Given the description of an element on the screen output the (x, y) to click on. 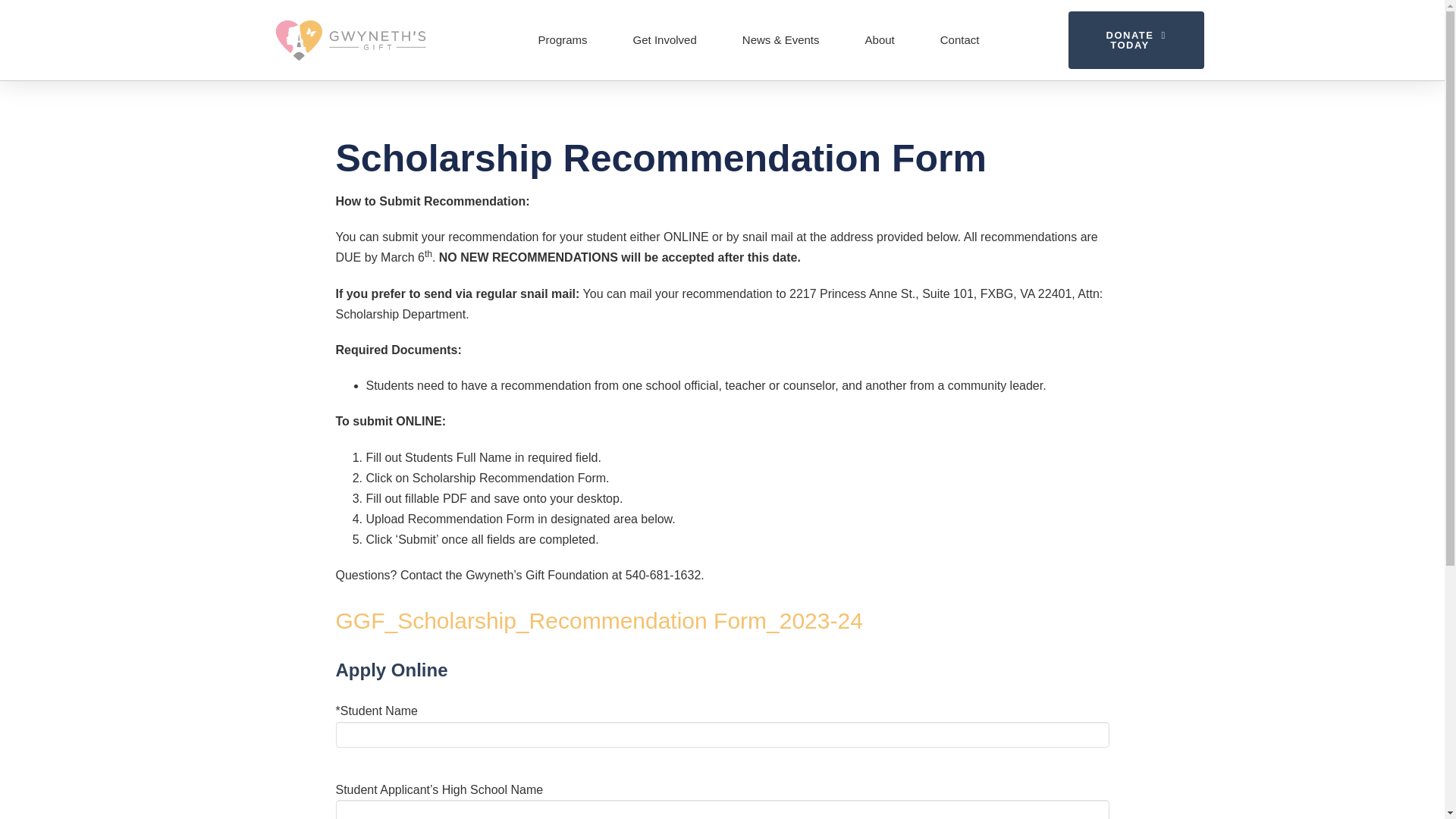
Contact (959, 39)
Get Involved (665, 39)
Programs (563, 39)
DONATE TODAY (1135, 39)
